Given the description of an element on the screen output the (x, y) to click on. 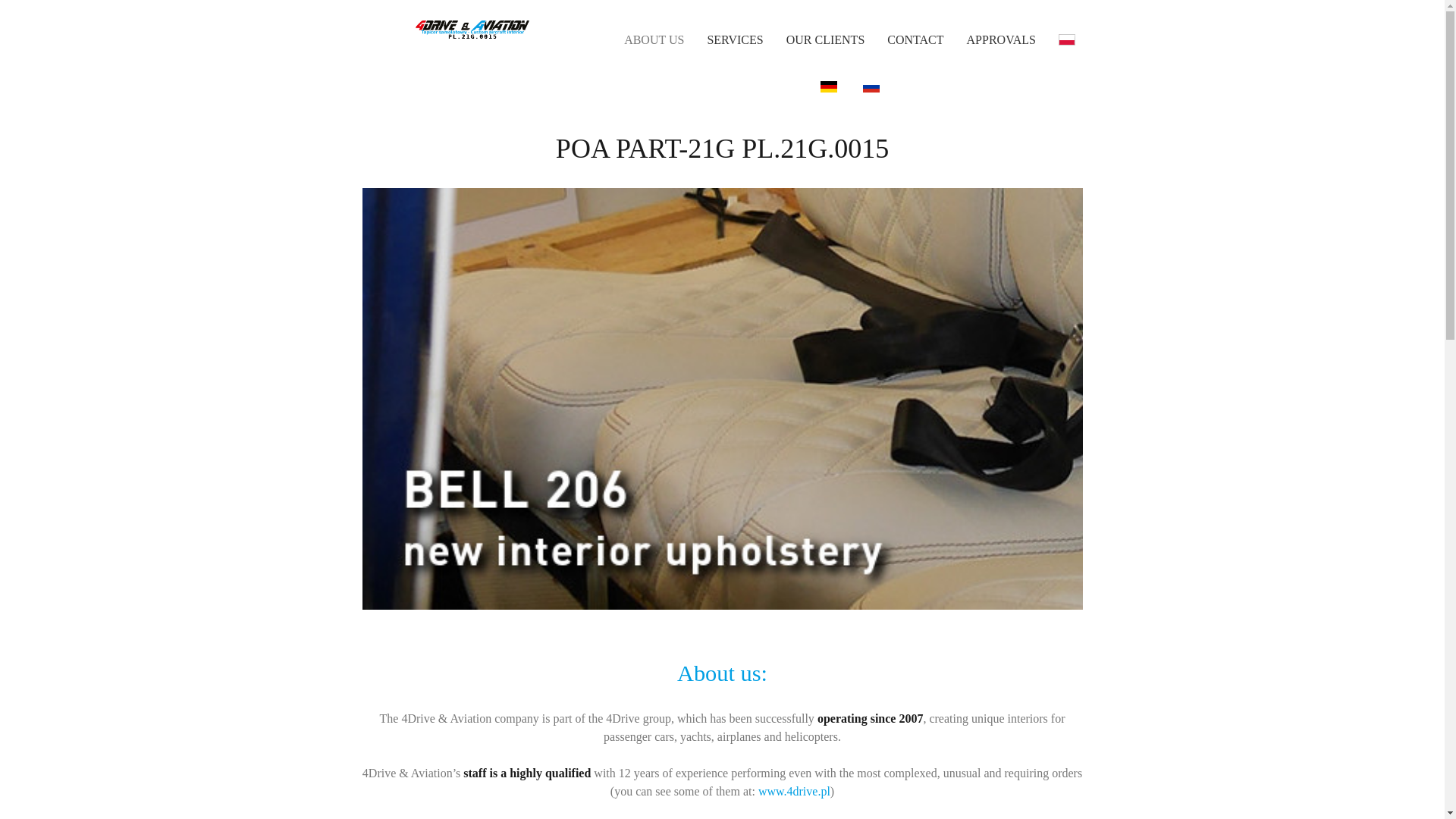
OUR CLIENTS (825, 38)
Aircraft interior upholstery, renovation, leather, alcantra (653, 38)
CONTACT (915, 38)
SERVICES (734, 38)
ABOUT US (653, 38)
Production organisation approval certificate PL.21G.0015 (1000, 38)
www.4drive.pl (793, 790)
Aircraft upholstery renovation and cleaning, PART 21G (734, 38)
APPROVALS (1000, 38)
4DRIVE (793, 790)
